Given the description of an element on the screen output the (x, y) to click on. 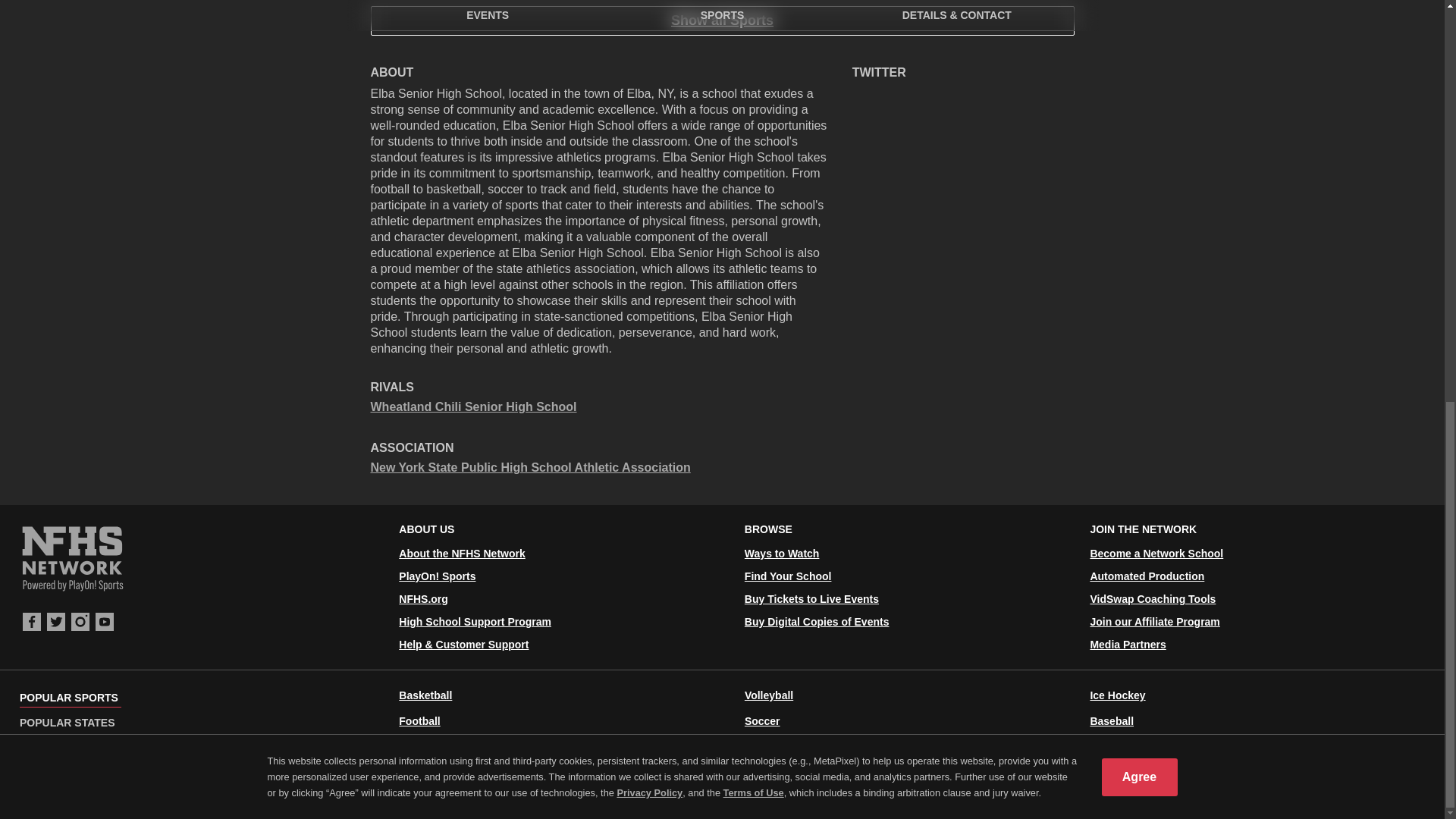
Facebook (31, 621)
YouTube (104, 621)
Twitter (55, 621)
Instagram (79, 621)
